Given the description of an element on the screen output the (x, y) to click on. 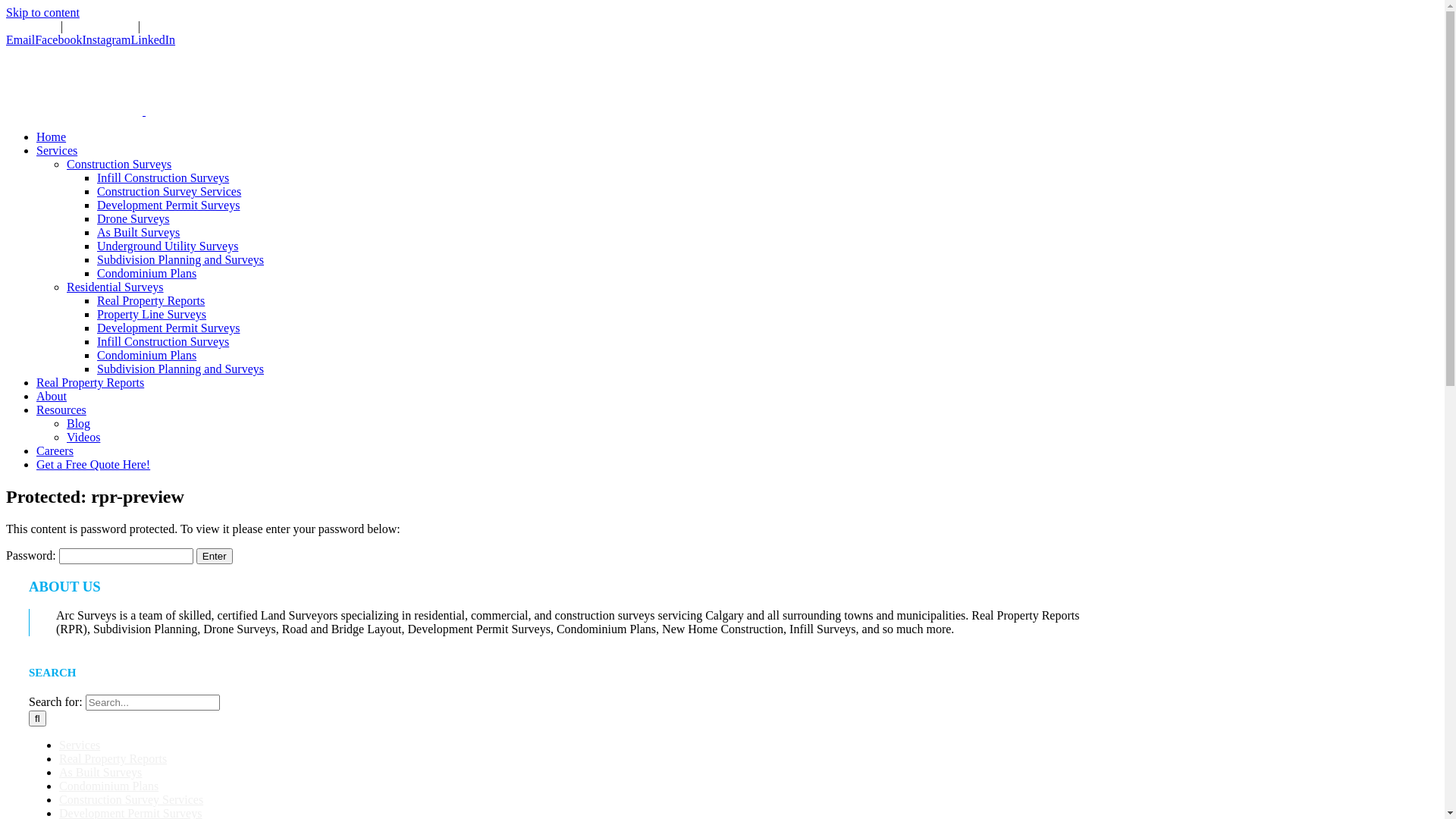
Services Element type: text (56, 150)
info@arcsurveys.ca Element type: text (191, 25)
Underground Utility Surveys Element type: text (167, 245)
Real Property Reports Element type: text (150, 300)
Condominium Plans Element type: text (146, 272)
Infill Construction Surveys Element type: text (163, 177)
Resources Element type: text (61, 409)
Subdivision Planning and Surveys Element type: text (180, 259)
Subdivision Planning and Surveys Element type: text (180, 368)
Email Element type: text (20, 39)
Real Property Reports Element type: text (112, 758)
Construction Survey Services Element type: text (131, 799)
Development Permit Surveys Element type: text (168, 204)
LinkedIn Element type: text (152, 39)
About Element type: text (51, 395)
403-277-1272 Element type: text (99, 25)
Infill Construction Surveys Element type: text (163, 341)
Skip to content Element type: text (42, 12)
Services Element type: text (79, 744)
Contact us Element type: text (31, 25)
Drone Surveys Element type: text (133, 218)
Enter Element type: text (214, 556)
Get a Free Quote Here! Element type: text (93, 464)
Condominium Plans Element type: text (108, 785)
Home Element type: text (50, 136)
Careers Element type: text (54, 450)
Videos Element type: text (83, 436)
Construction Survey Services Element type: text (169, 191)
Real Property Reports Element type: text (90, 382)
Residential Surveys Element type: text (114, 286)
Blog Element type: text (78, 423)
As Built Surveys Element type: text (100, 771)
As Built Surveys Element type: text (138, 231)
Property Line Surveys Element type: text (151, 313)
Instagram Element type: text (105, 39)
Construction Surveys Element type: text (118, 163)
Condominium Plans Element type: text (146, 354)
Development Permit Surveys Element type: text (168, 327)
Facebook Element type: text (57, 39)
